Given the description of an element on the screen output the (x, y) to click on. 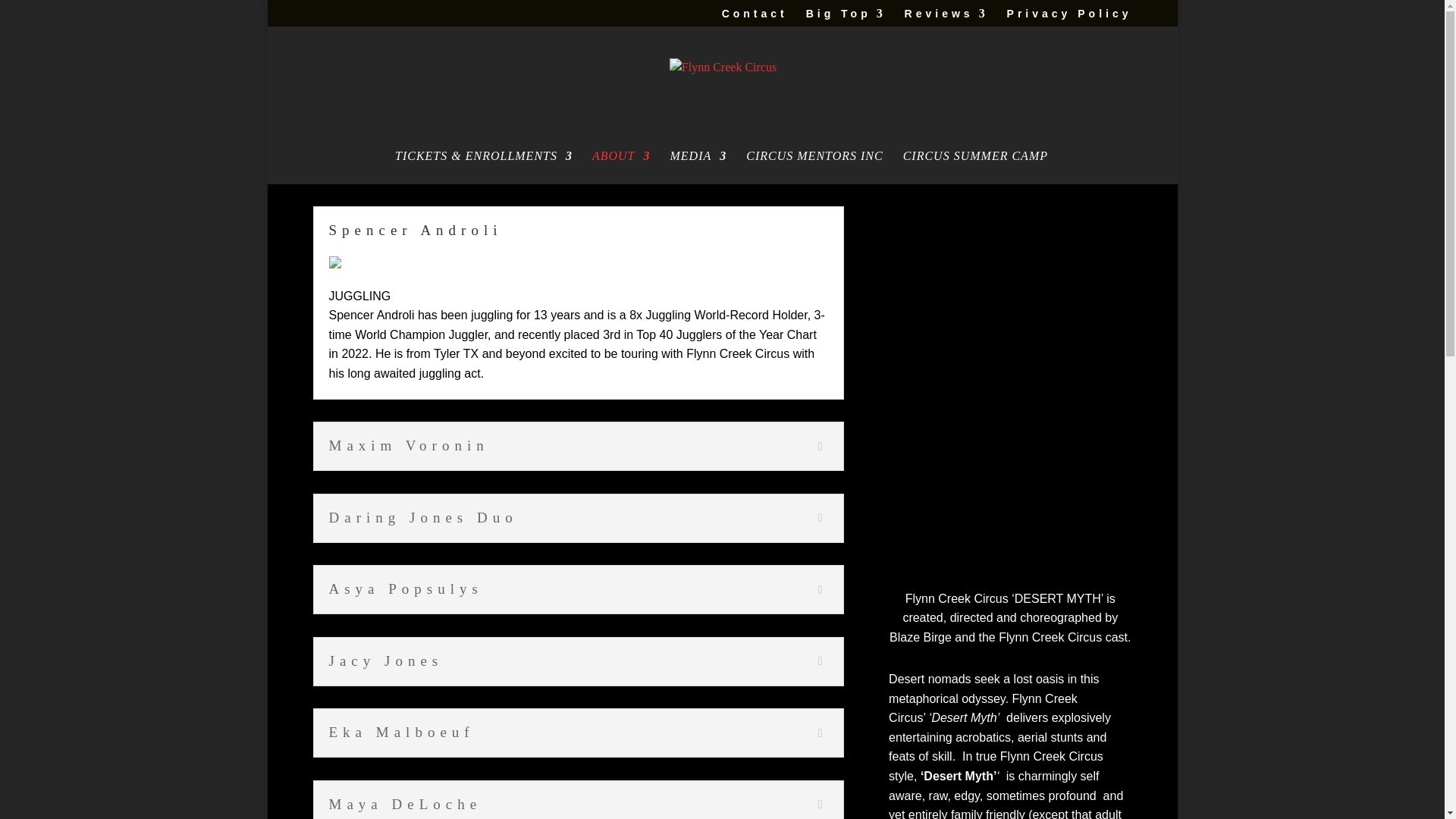
MEDIA (697, 167)
ABOUT (621, 167)
Big Top (846, 16)
Reviews (946, 16)
Privacy Policy (1069, 16)
CIRCUS MENTORS INC (813, 167)
Contact (754, 16)
CIRCUS SUMMER CAMP (975, 167)
